Given the description of an element on the screen output the (x, y) to click on. 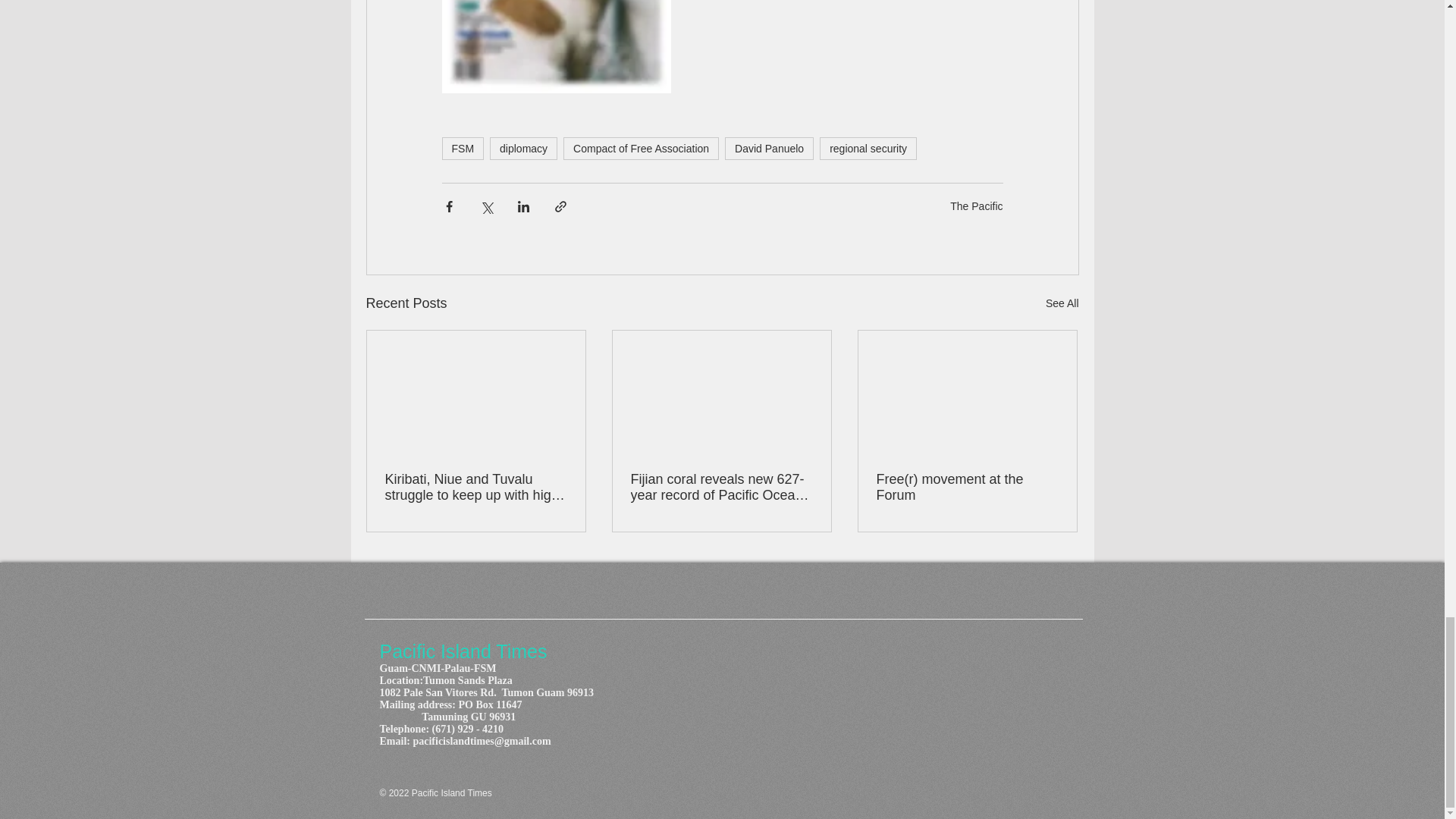
Compact of Free Association (641, 148)
diplomacy (523, 148)
FSM (462, 148)
